Given the description of an element on the screen output the (x, y) to click on. 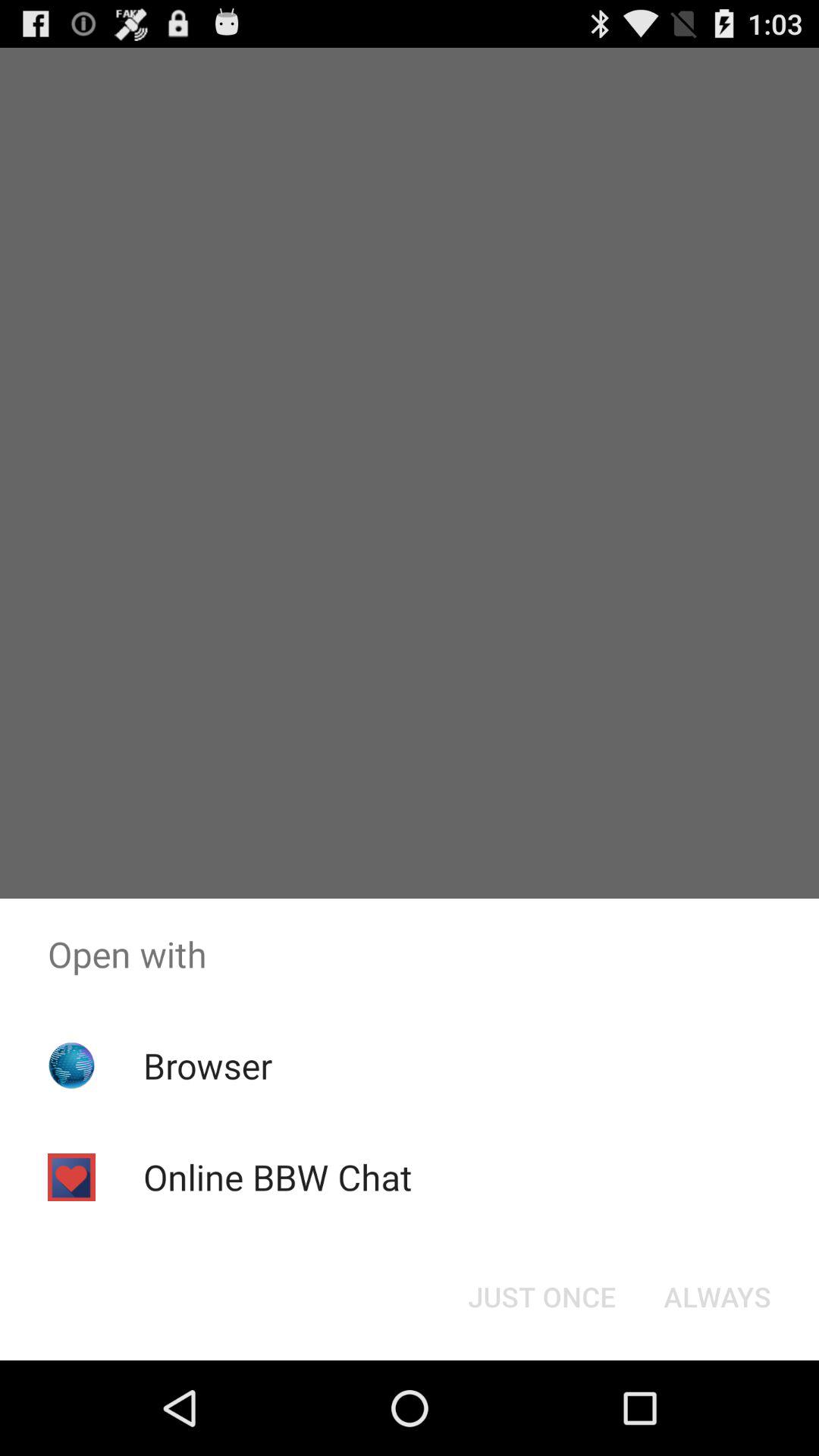
choose item below the browser app (277, 1176)
